Given the description of an element on the screen output the (x, y) to click on. 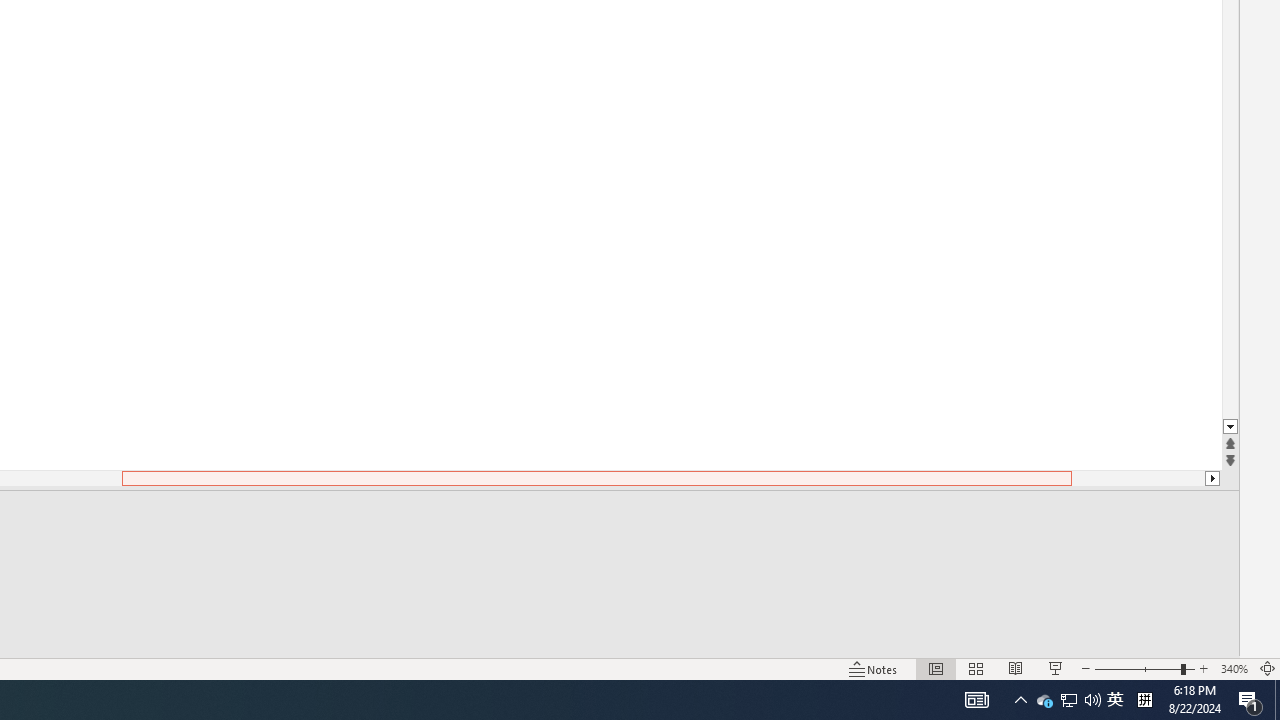
Zoom 340% (1234, 668)
